Given the description of an element on the screen output the (x, y) to click on. 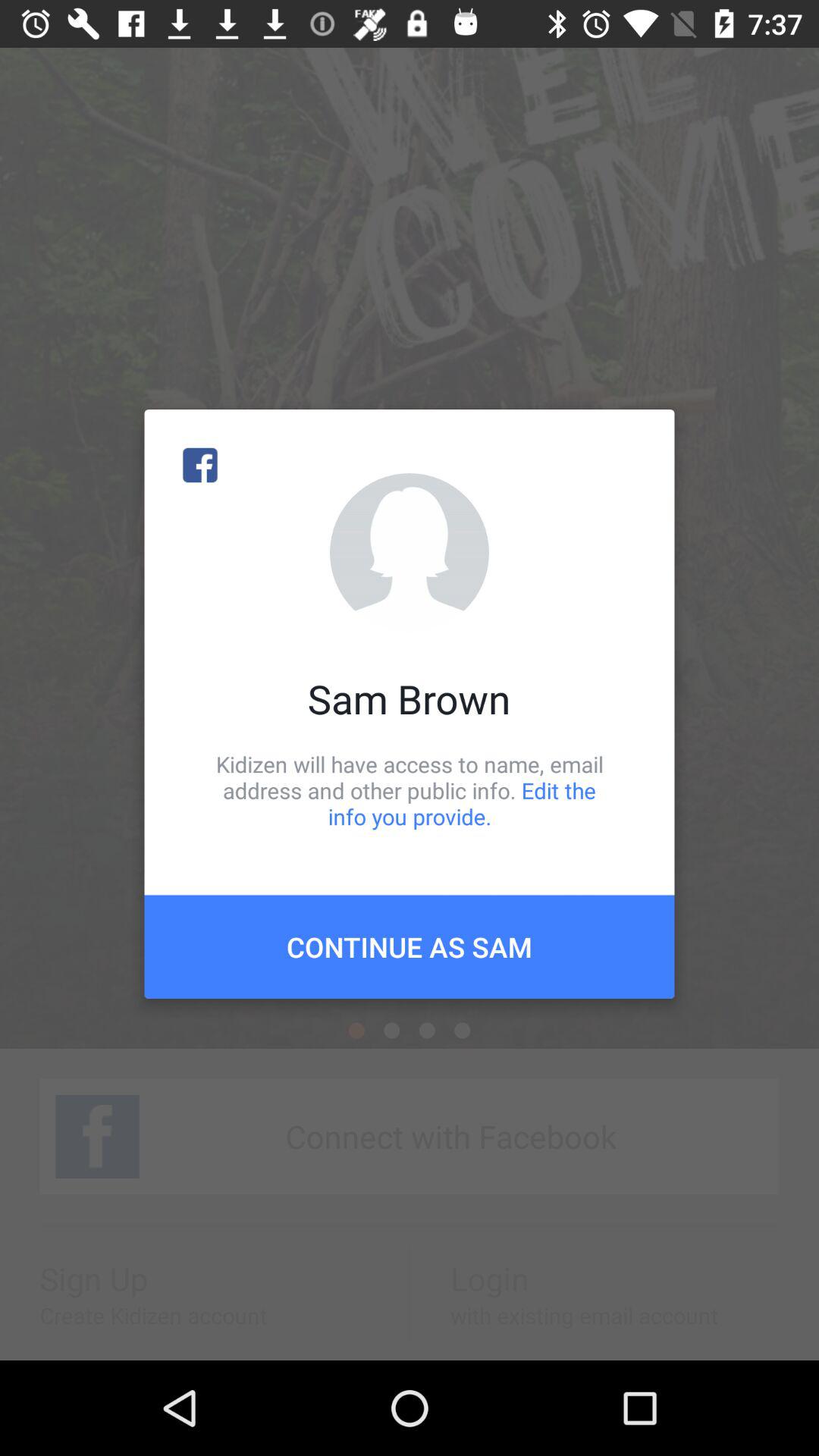
flip to the continue as sam icon (409, 946)
